Given the description of an element on the screen output the (x, y) to click on. 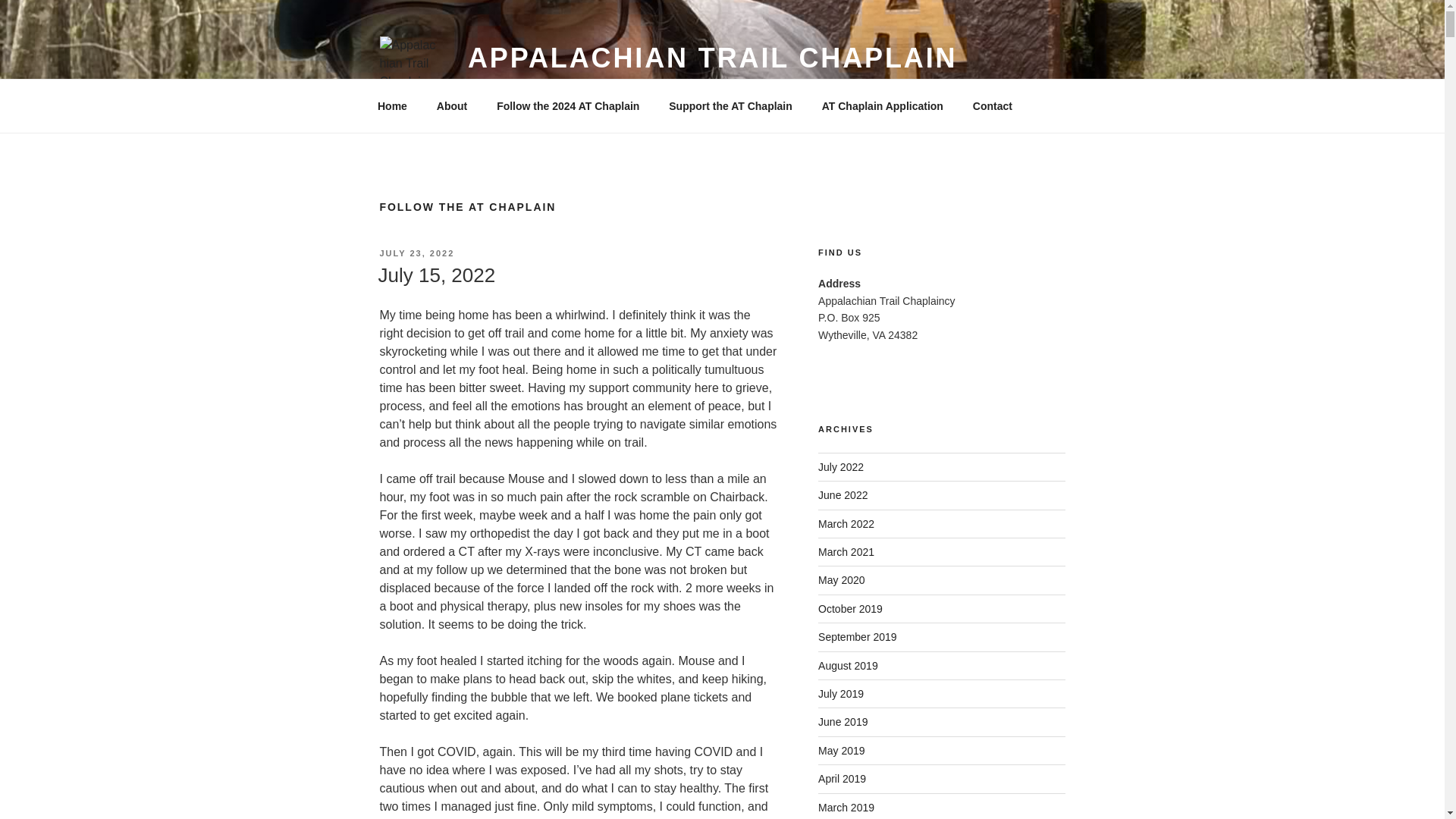
July 15, 2022 (436, 274)
Contact (992, 106)
May 2020 (841, 580)
March 2021 (846, 551)
AT Chaplain Application (882, 106)
October 2019 (850, 608)
March 2022 (846, 523)
Follow the 2024 AT Chaplain (567, 106)
July 2022 (840, 467)
June 2022 (842, 494)
APPALACHIAN TRAIL CHAPLAIN (712, 57)
JULY 23, 2022 (416, 252)
September 2019 (857, 636)
Support the AT Chaplain (731, 106)
Home (392, 106)
